Given the description of an element on the screen output the (x, y) to click on. 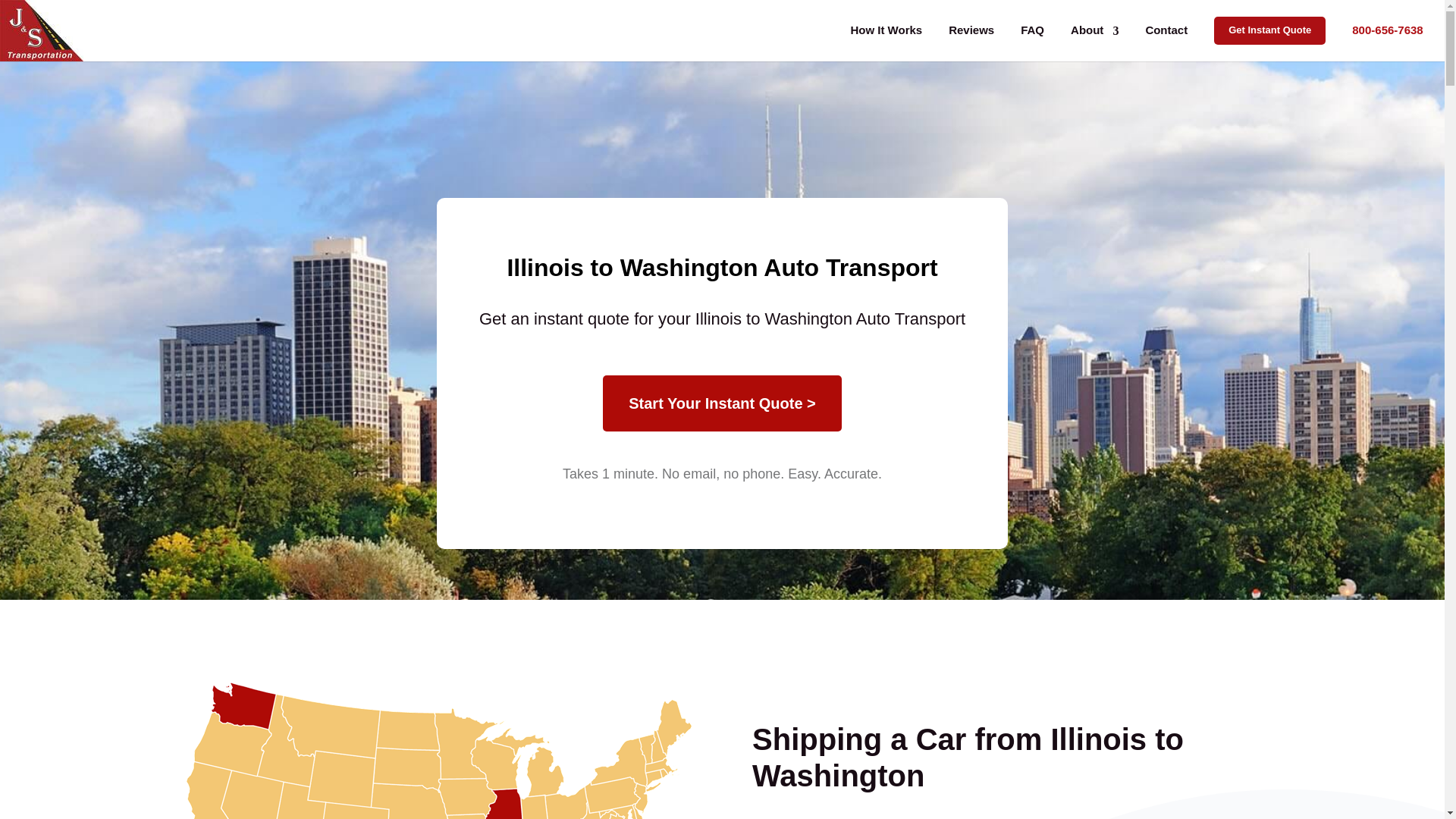
Get Instant Quote (1269, 30)
800-656-7638 (1387, 30)
illinois-to-washington-car-shipping (433, 750)
How It Works (885, 30)
